Given the description of an element on the screen output the (x, y) to click on. 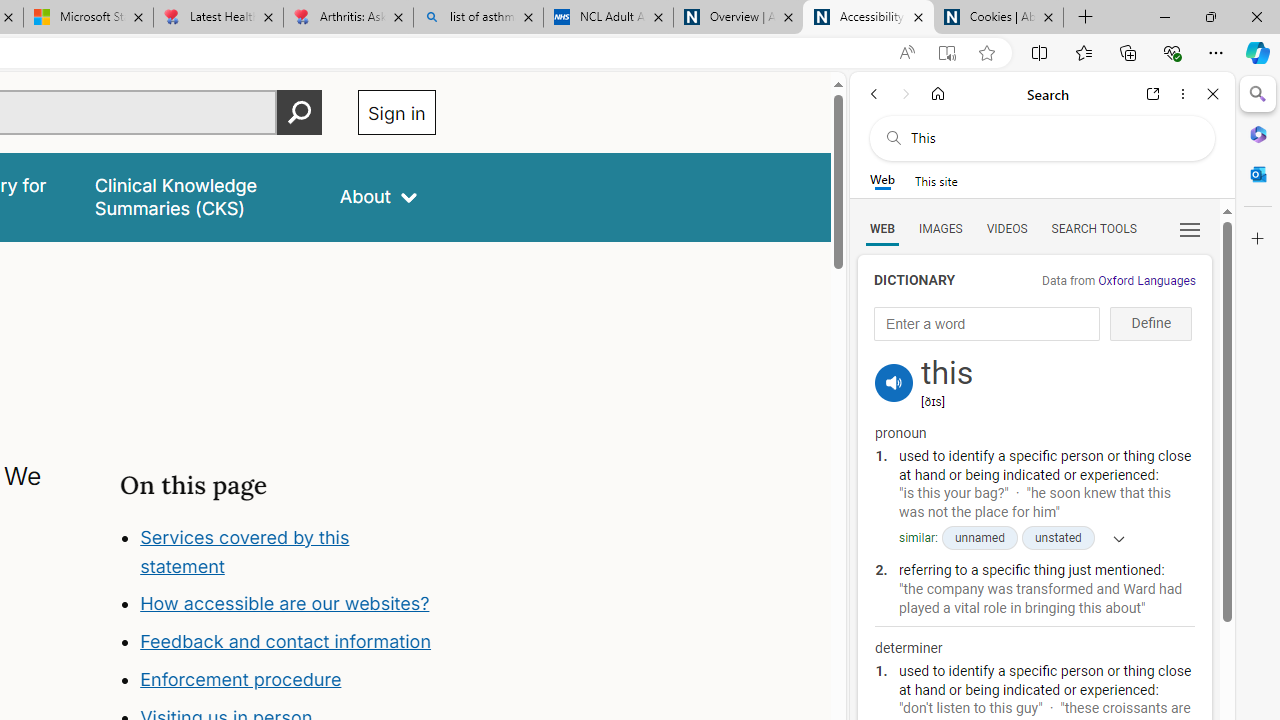
Services covered by this statement (244, 551)
